Given the description of an element on the screen output the (x, y) to click on. 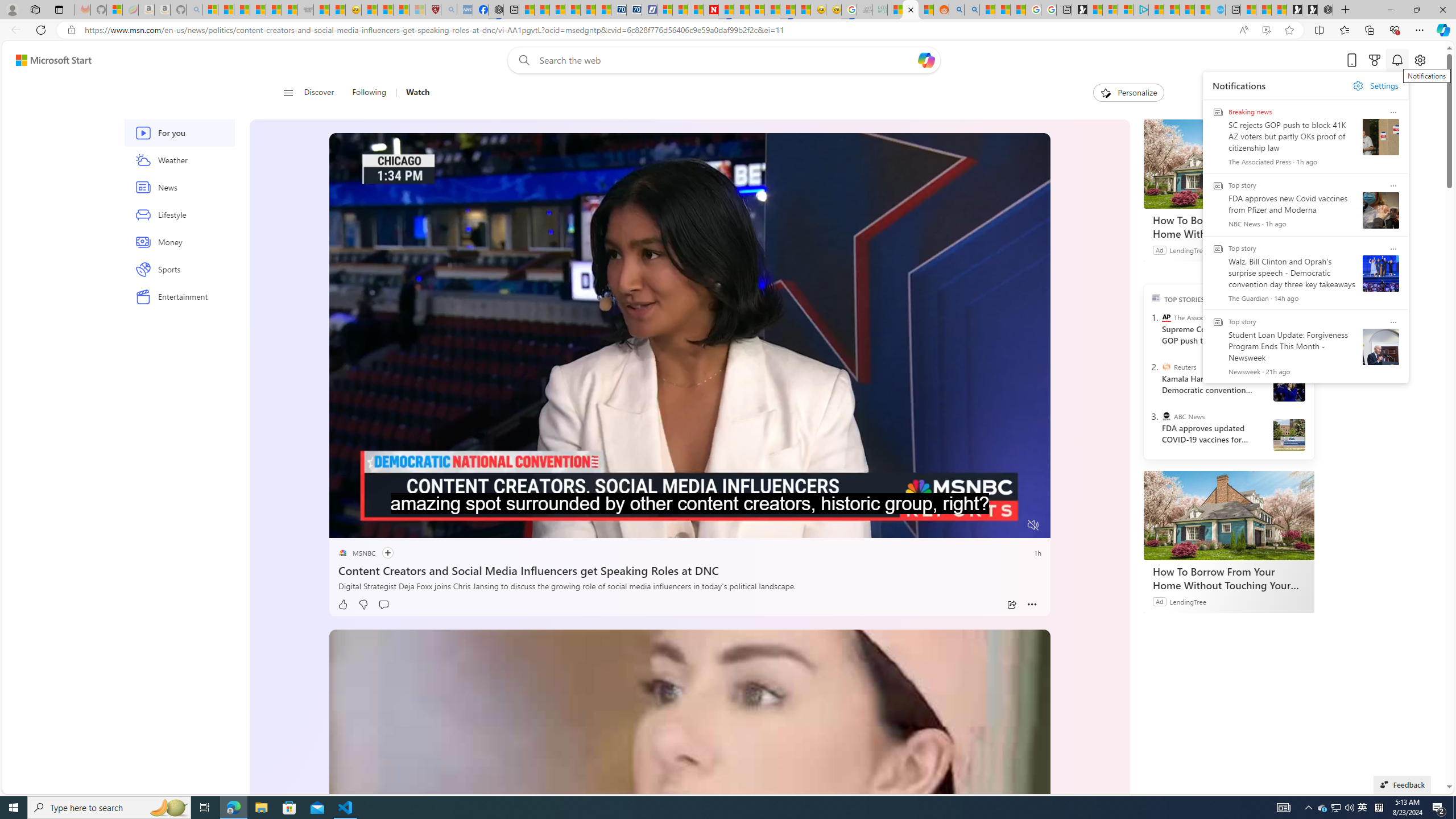
Skip to footer (46, 59)
How To Borrow From Your Home Without Touching Your Mortgage (1227, 578)
Stocks - MSN (289, 9)
The Weather Channel - MSN (241, 9)
Share (1010, 604)
